Given the description of an element on the screen output the (x, y) to click on. 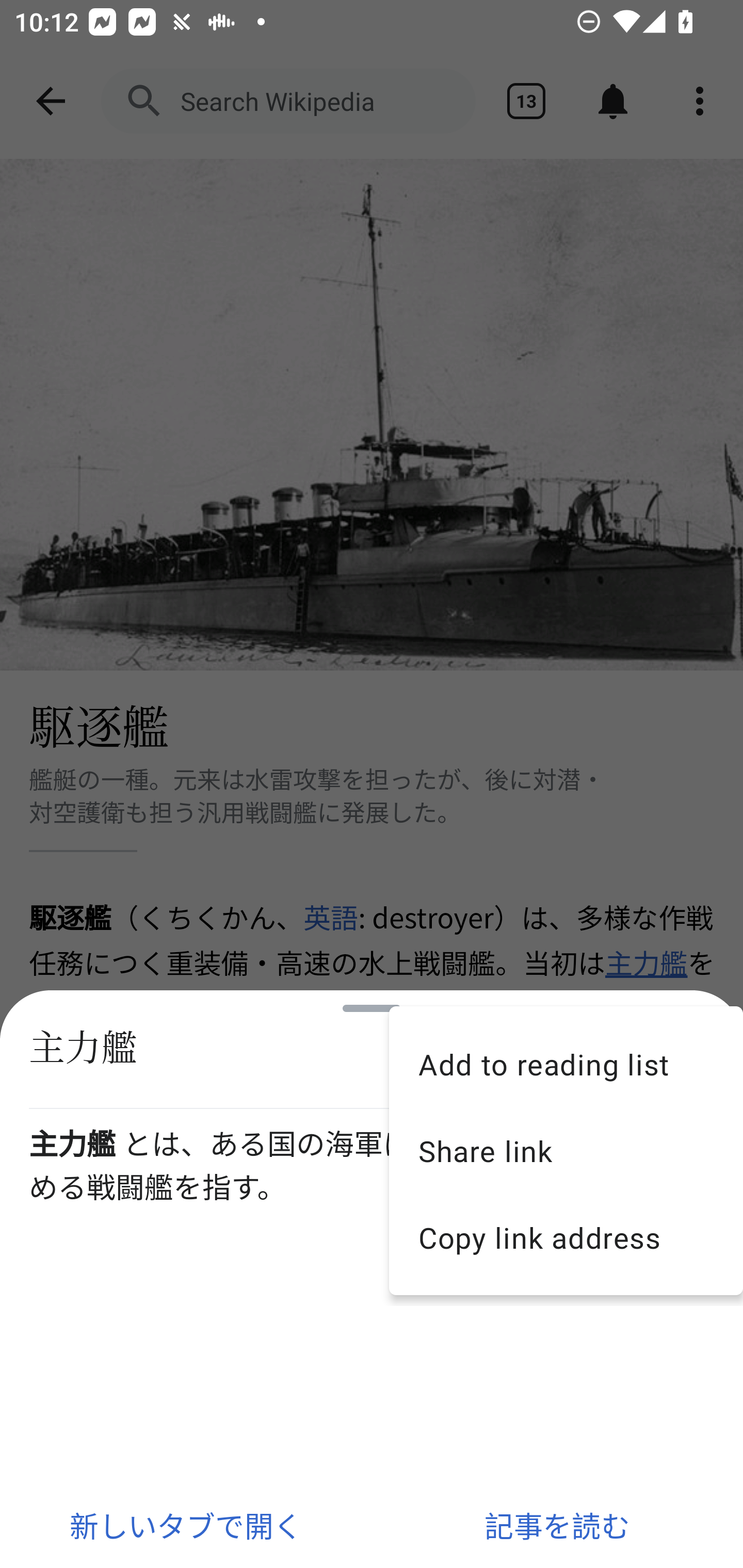
Add to reading list (566, 1063)
Share link (566, 1150)
Copy link address (566, 1237)
